Given the description of an element on the screen output the (x, y) to click on. 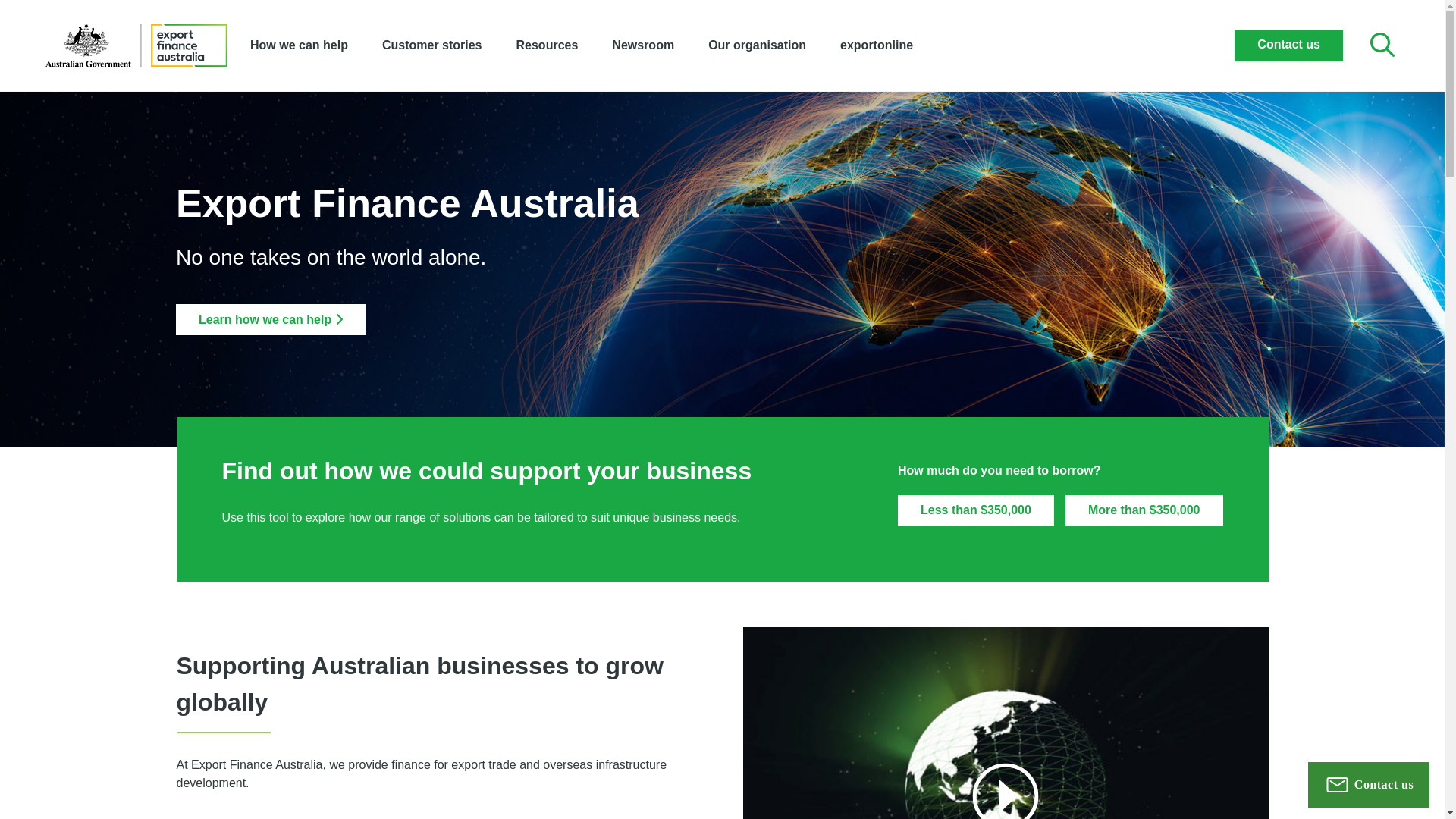
How we can help (298, 45)
Customer stories (431, 45)
Resources (547, 45)
